Given the description of an element on the screen output the (x, y) to click on. 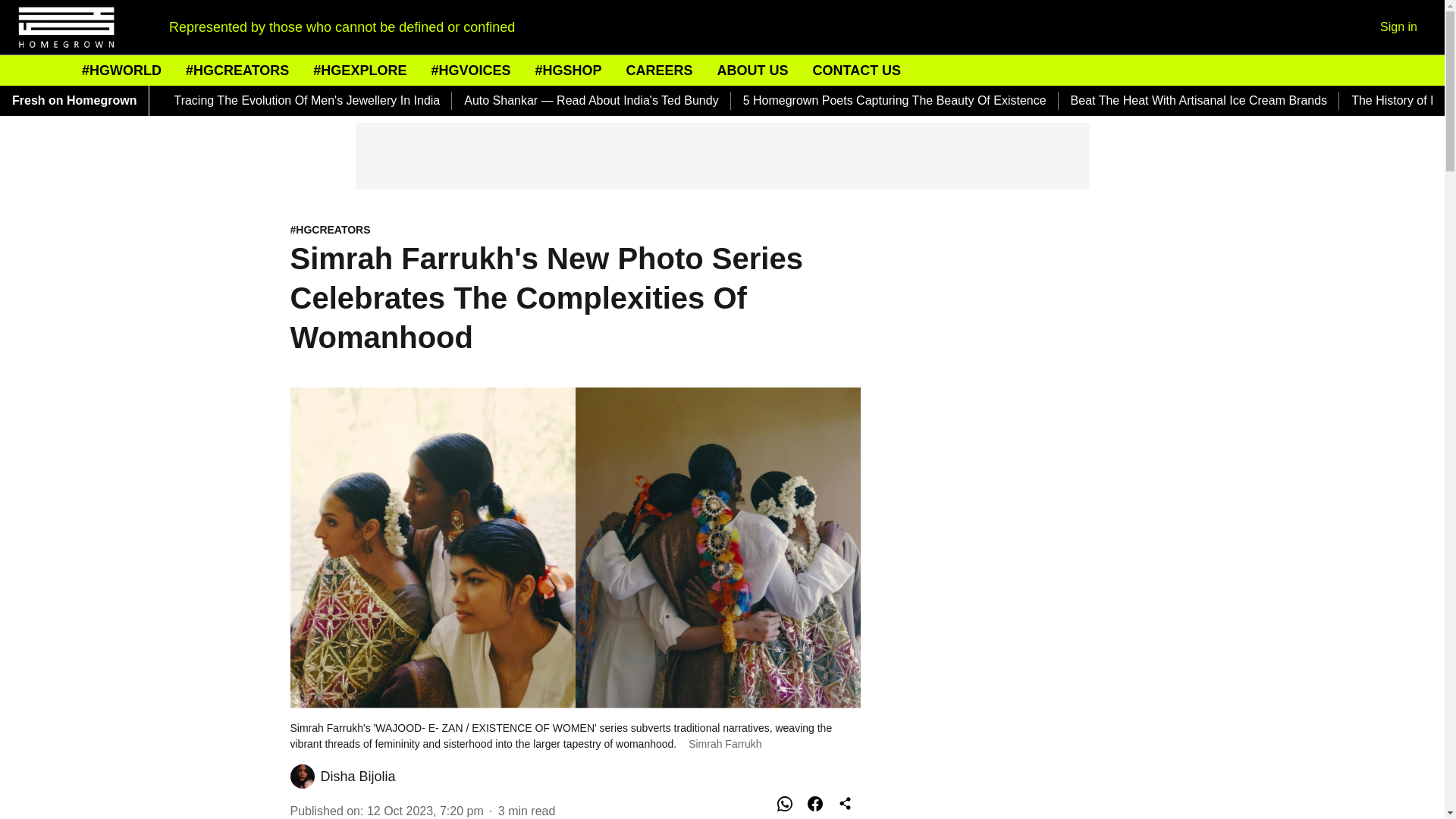
ABOUT US (751, 70)
Tracing The Evolution Of Men's Jewellery In India (306, 100)
CAREERS (659, 70)
CONTACT US (856, 70)
2023-10-12 11:20 (424, 809)
